Given the description of an element on the screen output the (x, y) to click on. 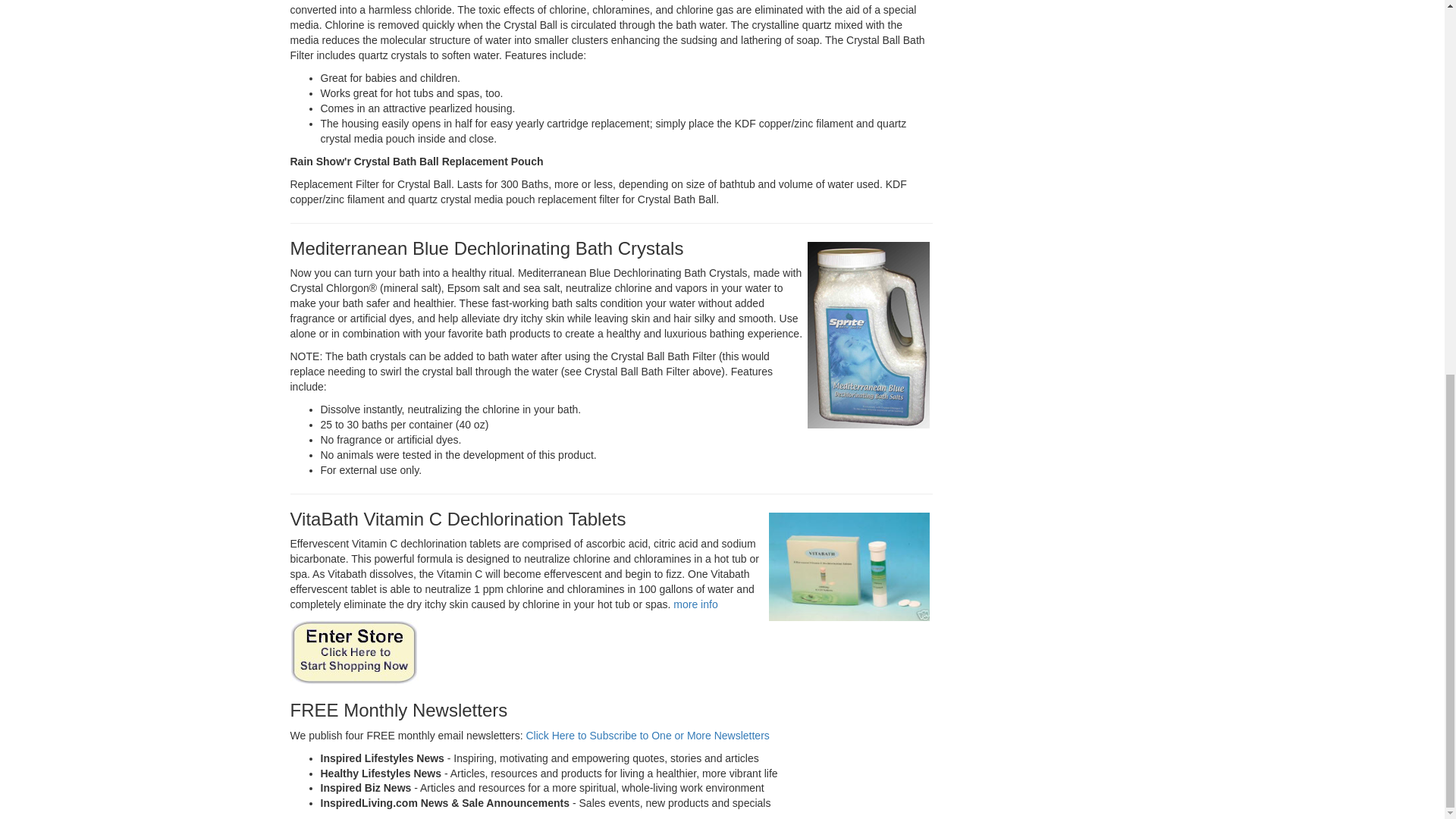
more info (694, 604)
Click Here to Subscribe to One or More Newsletters (646, 735)
